Given the description of an element on the screen output the (x, y) to click on. 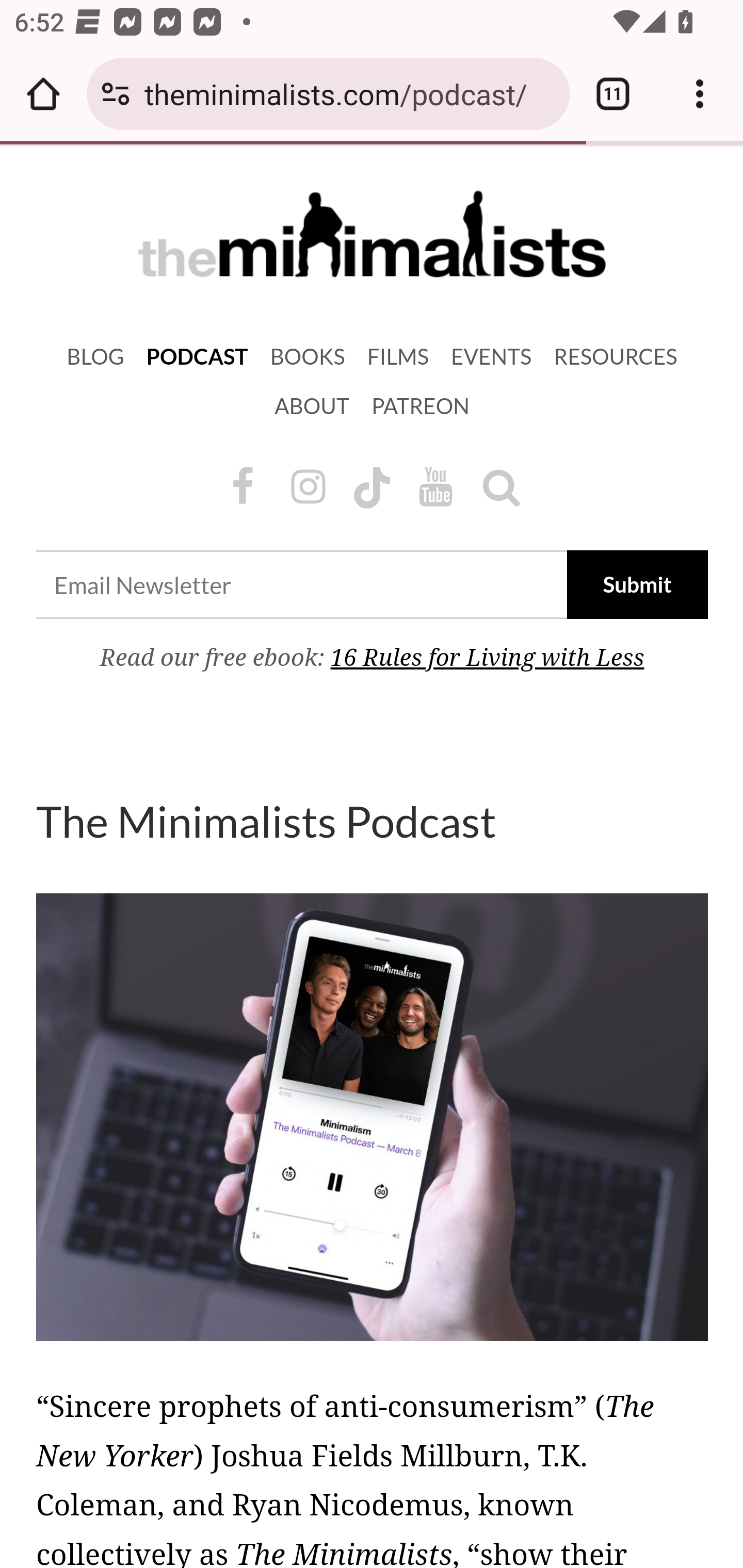
Open the home page (43, 93)
Connection is secure (115, 93)
Switch or close tabs (612, 93)
Customize and control Google Chrome (699, 93)
theminimalists.com/podcast/ (349, 92)
